Given the description of an element on the screen output the (x, y) to click on. 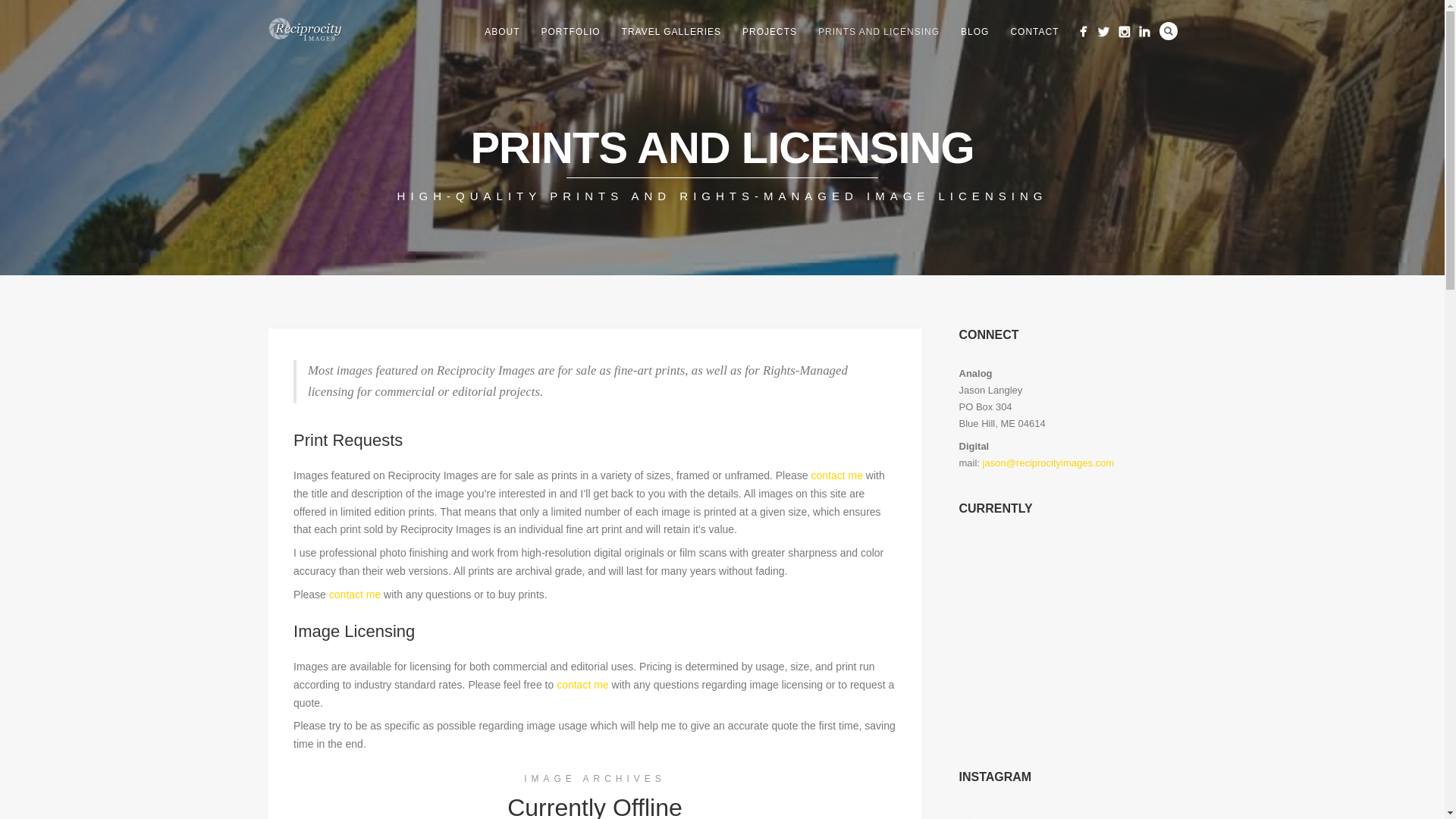
reciprocityimages (1067, 817)
contact me (582, 684)
BLOG (974, 31)
Contact (354, 594)
Twitter (1102, 31)
TRAVEL GALLERIES (671, 31)
Facebook (1083, 31)
contact me (354, 594)
Instagram (1124, 31)
ABOUT (501, 31)
PROJECTS (770, 31)
PRINTS AND LICENSING (879, 31)
Search (1167, 31)
PORTFOLIO (569, 31)
CONTACT (1033, 31)
